Given the description of an element on the screen output the (x, y) to click on. 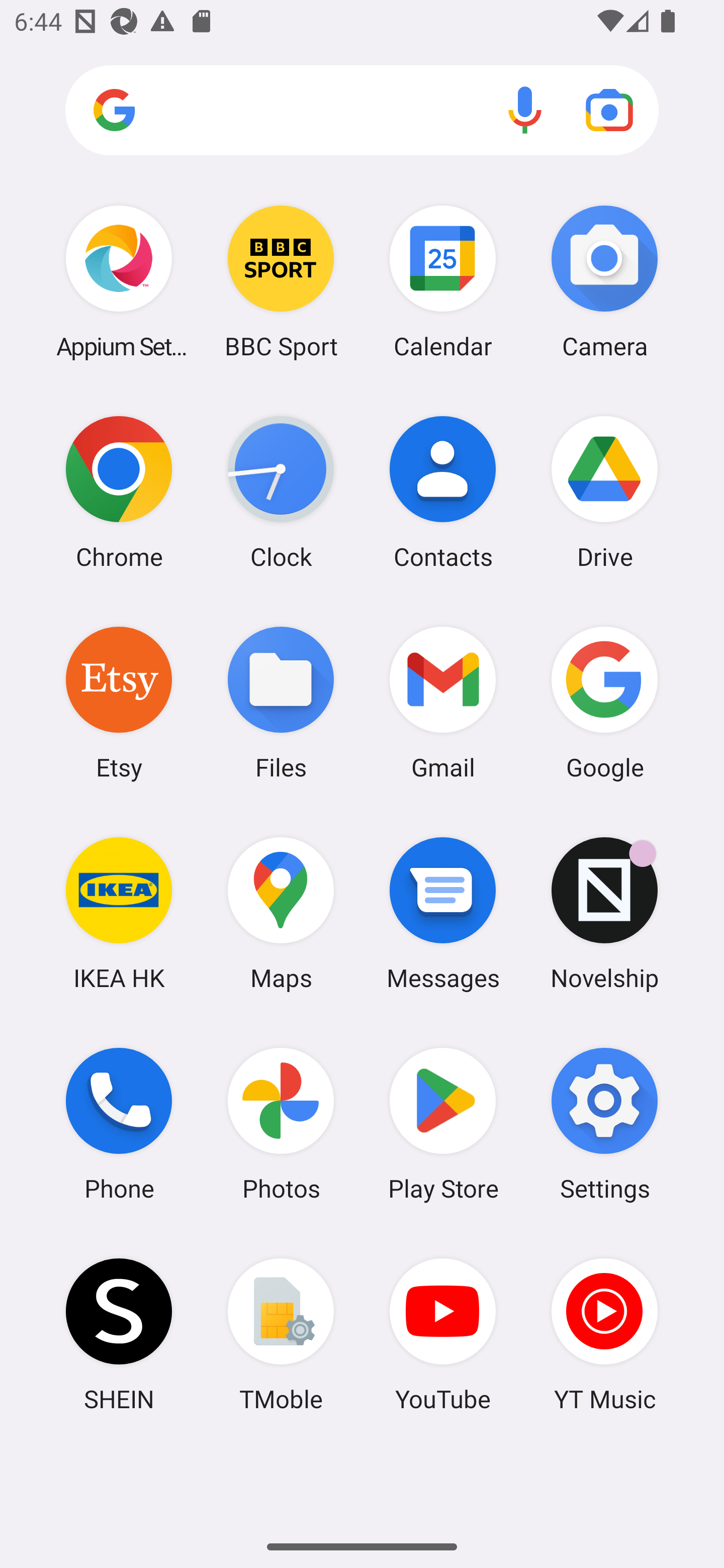
Search apps, web and more (361, 110)
Voice search (524, 109)
Google Lens (608, 109)
Appium Settings (118, 281)
BBC Sport (280, 281)
Calendar (443, 281)
Camera (604, 281)
Chrome (118, 492)
Clock (280, 492)
Contacts (443, 492)
Drive (604, 492)
Etsy (118, 702)
Files (280, 702)
Gmail (443, 702)
Google (604, 702)
IKEA HK (118, 913)
Maps (280, 913)
Messages (443, 913)
Novelship Novelship has 1 notification (604, 913)
Phone (118, 1124)
Photos (280, 1124)
Play Store (443, 1124)
Settings (604, 1124)
SHEIN (118, 1334)
TMoble (280, 1334)
YouTube (443, 1334)
YT Music (604, 1334)
